Given the description of an element on the screen output the (x, y) to click on. 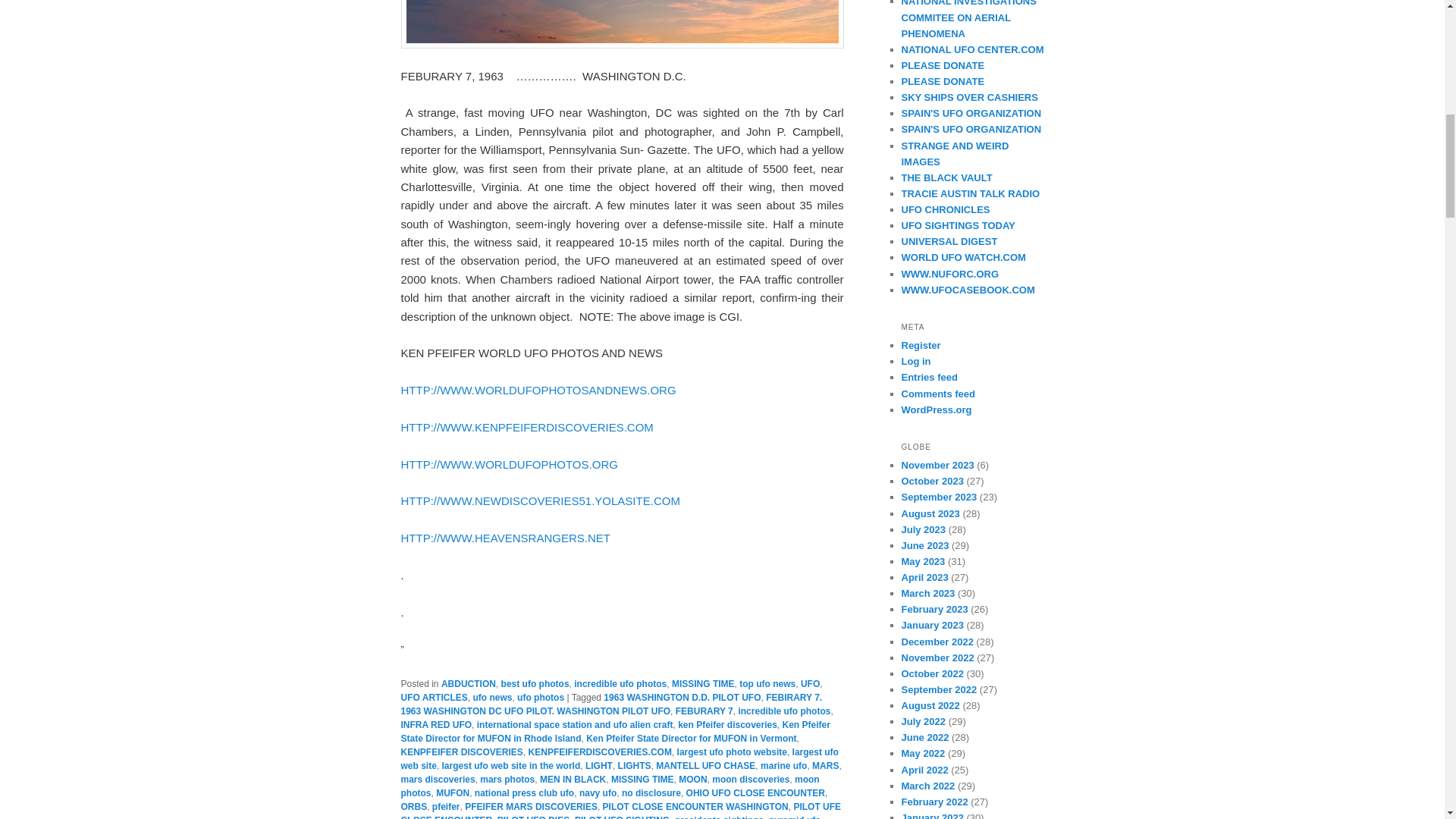
ABDUCTION (468, 683)
top ufo news (766, 683)
incredible ufo photos (783, 710)
INFRA RED UFO (435, 724)
UFO ARTICLES (433, 697)
LEADING UFO ORGANIZATION (968, 19)
FEBURARY 7 (704, 710)
UFO (809, 683)
1963 WASHINGTON D.D. PILOT UFO (682, 697)
best ufo photos (534, 683)
